Given the description of an element on the screen output the (x, y) to click on. 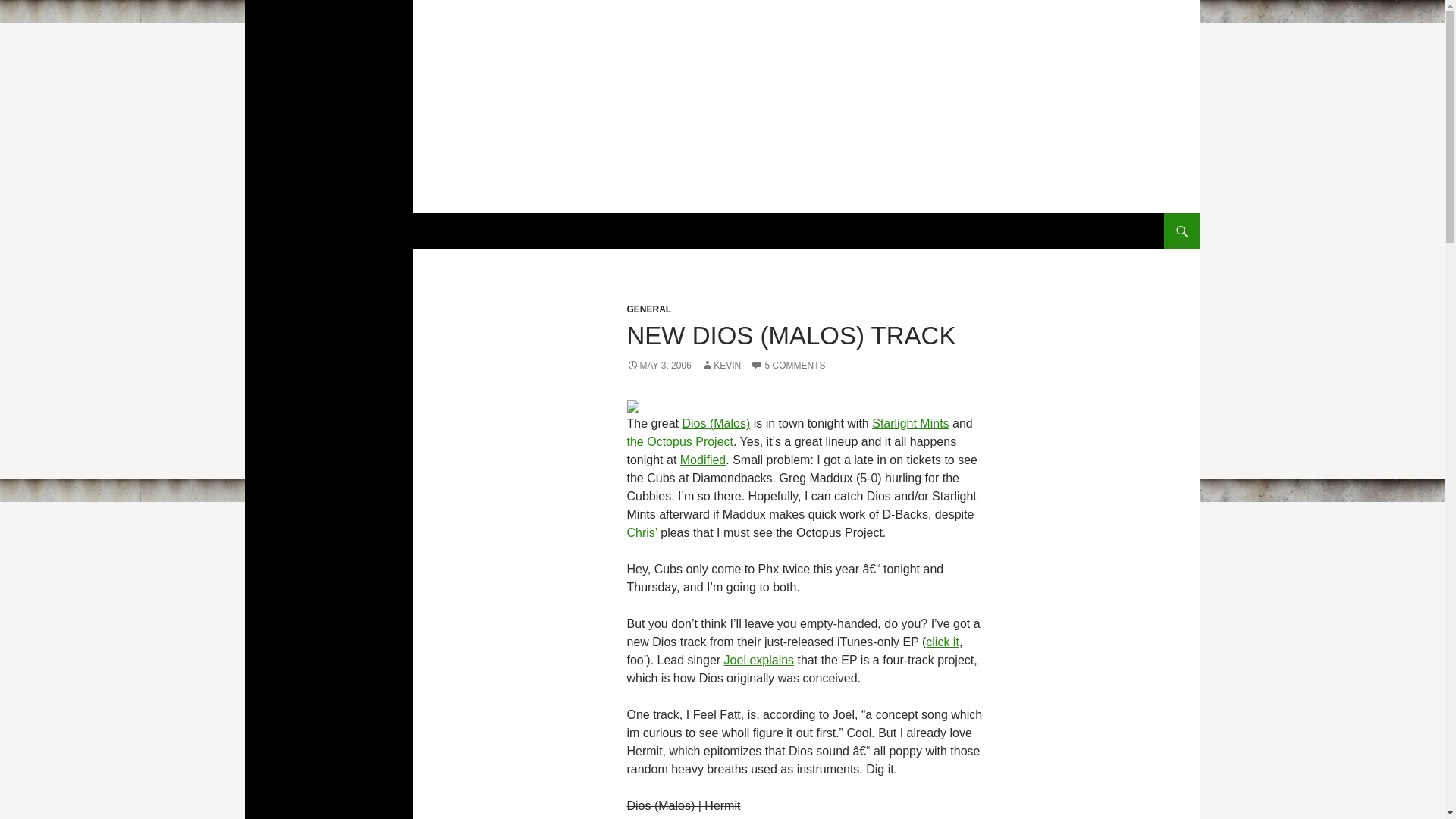
click it (942, 641)
MAY 3, 2006 (658, 365)
Joel explains (758, 659)
GENERAL (648, 308)
5 COMMENTS (788, 365)
So Much Silence (320, 230)
KEVIN (721, 365)
the Octopus Project (679, 440)
